Given the description of an element on the screen output the (x, y) to click on. 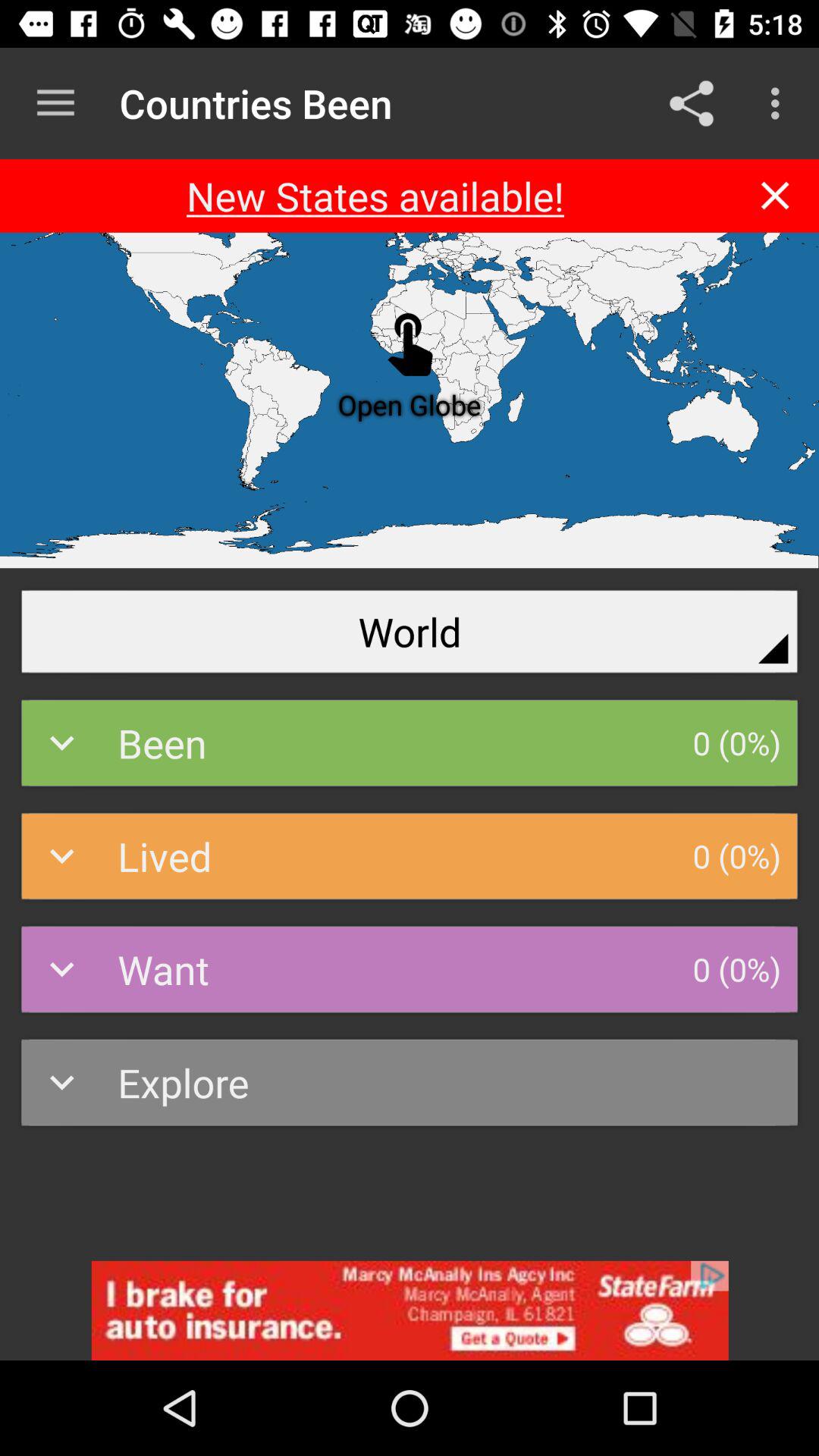
x 's out of state updates (775, 195)
